Given the description of an element on the screen output the (x, y) to click on. 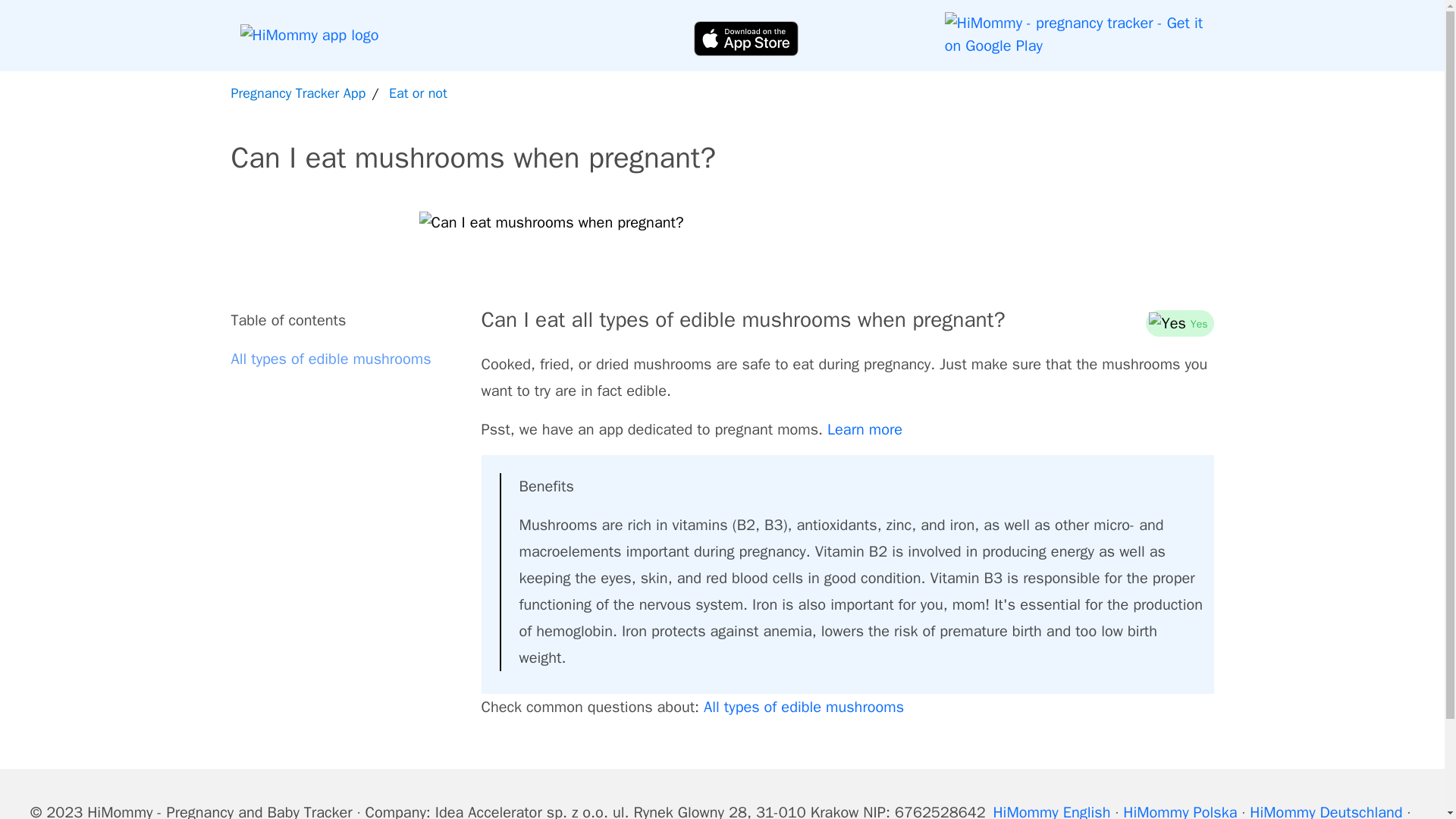
Pregnancy Tracker App (297, 93)
Eat or not (417, 93)
All types of edible mushrooms (346, 358)
All types of edible mushrooms (803, 706)
HiMommy Deutschland (1325, 811)
HiMommy English (1050, 811)
HiMommy Polska (1179, 811)
Learn more (864, 429)
